Given the description of an element on the screen output the (x, y) to click on. 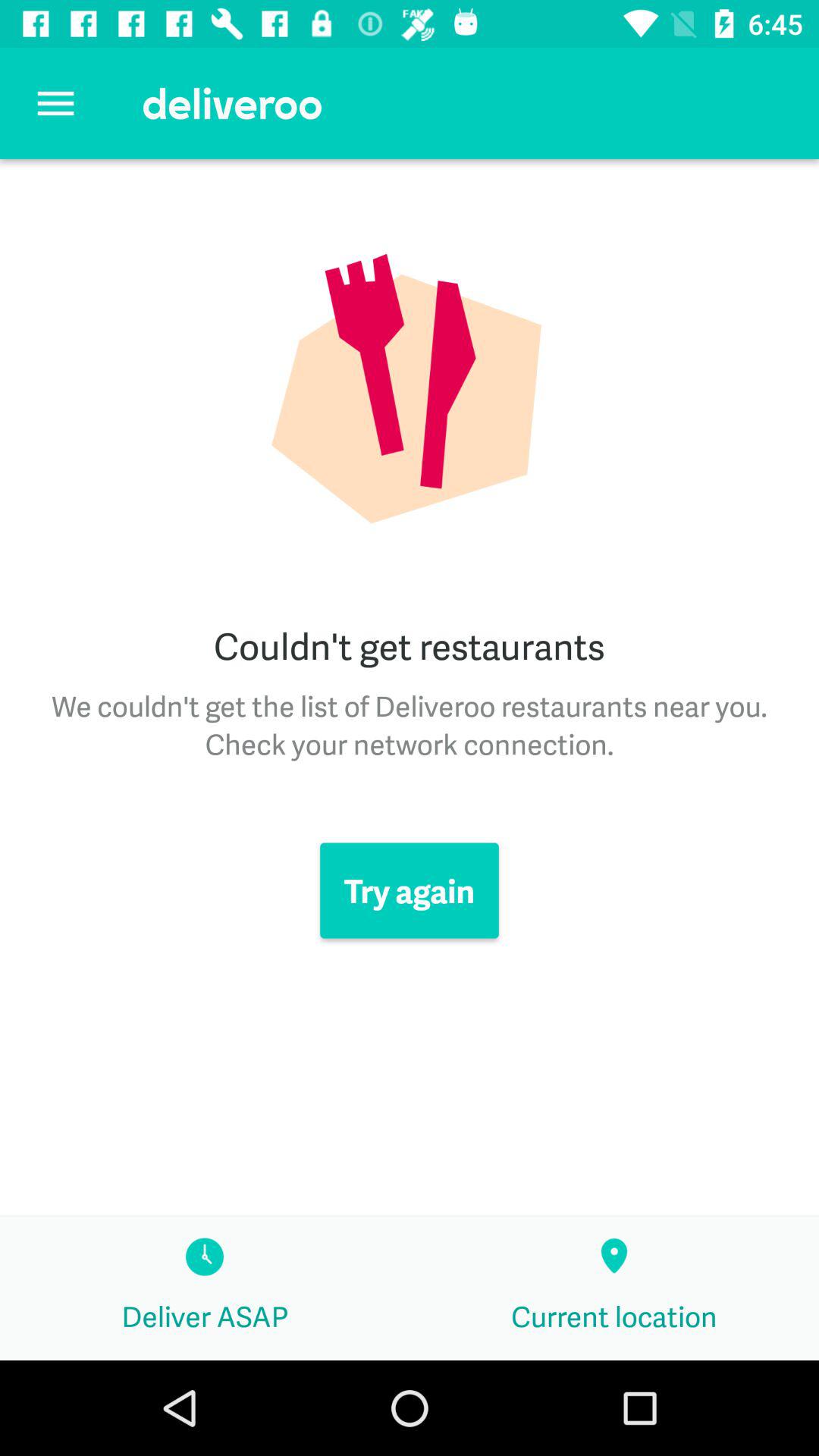
open icon above deliver asap (409, 890)
